Given the description of an element on the screen output the (x, y) to click on. 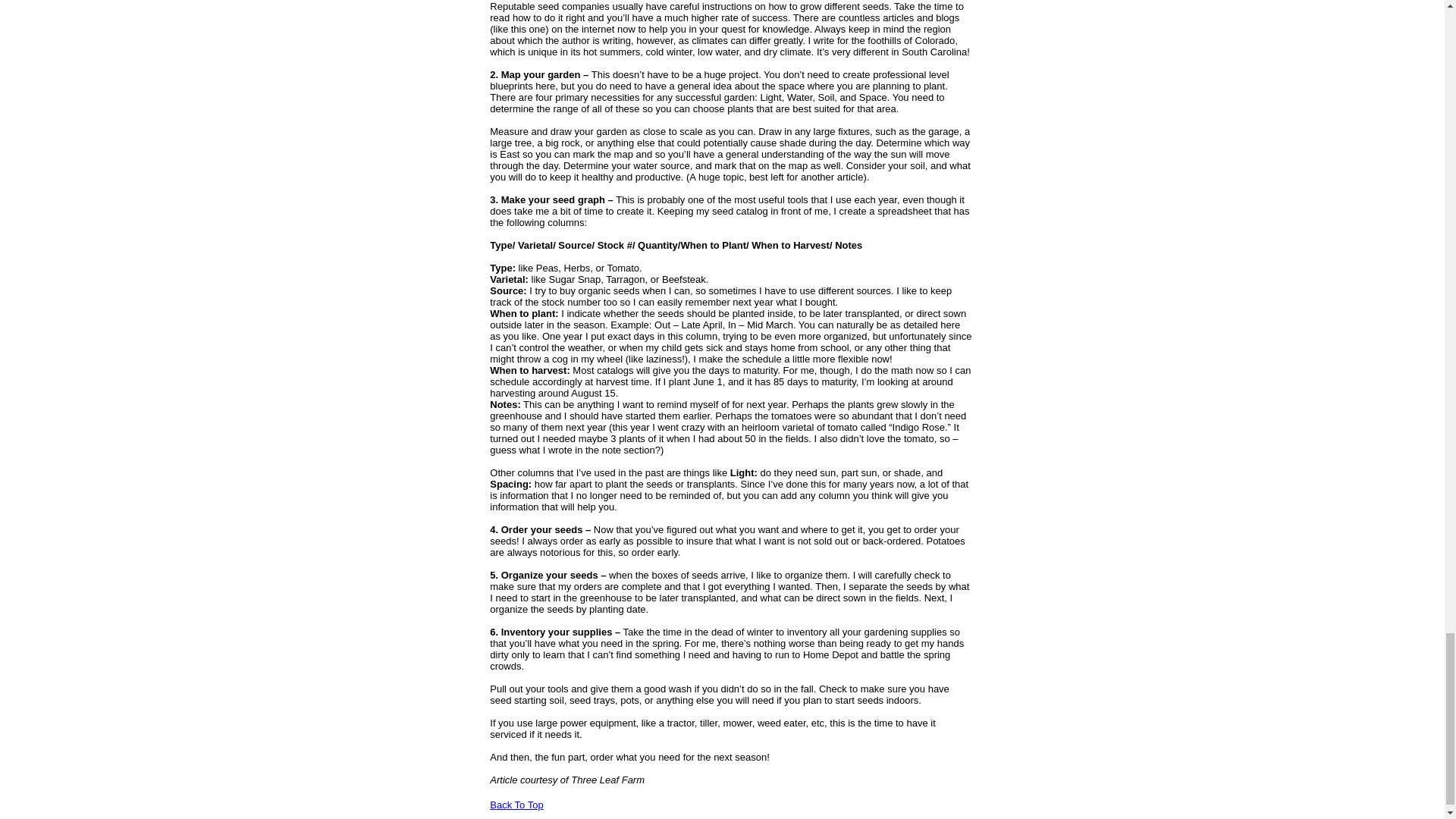
Back To Top (516, 803)
